Given the description of an element on the screen output the (x, y) to click on. 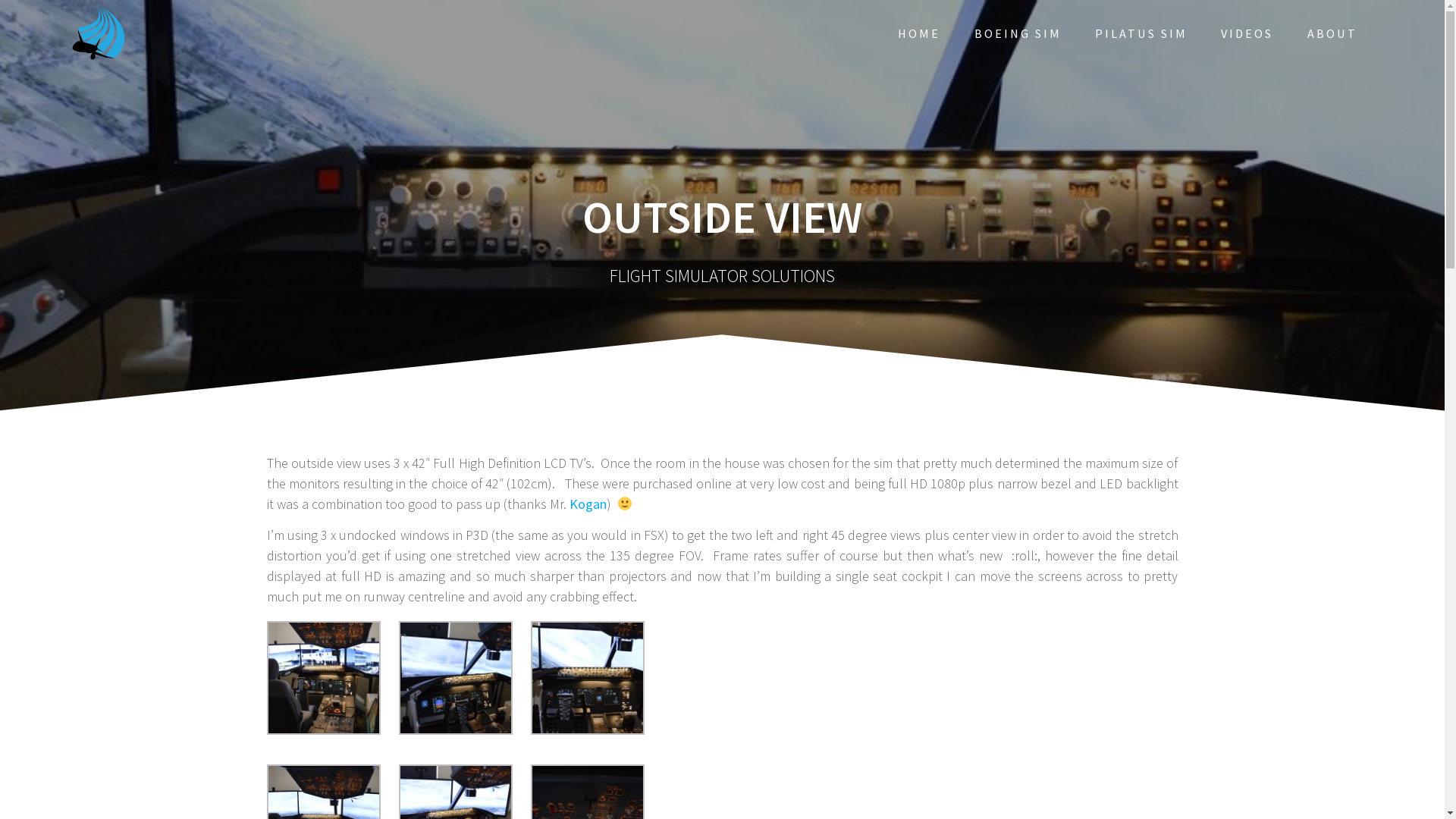
PILATUS SIM Element type: text (1141, 33)
VIDEOS Element type: text (1246, 33)
HOME Element type: text (918, 33)
ABOUT Element type: text (1332, 33)
Kogan Element type: text (586, 503)
BOEING SIM Element type: text (1017, 33)
